Given the description of an element on the screen output the (x, y) to click on. 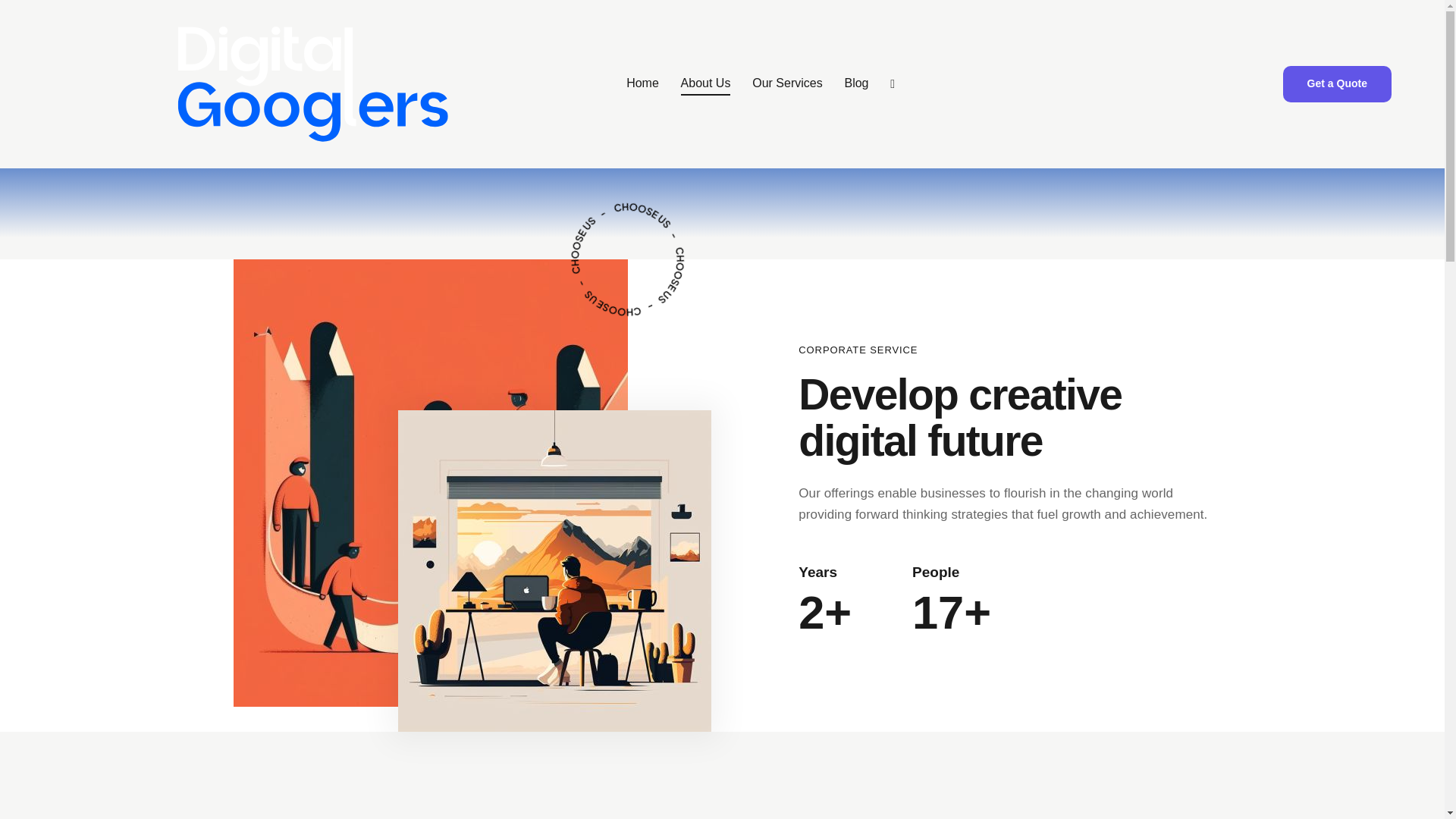
Blog (855, 84)
Get a Quote (1336, 84)
image4 (553, 571)
Home (642, 84)
Our Services (786, 84)
About Us (705, 84)
